Given the description of an element on the screen output the (x, y) to click on. 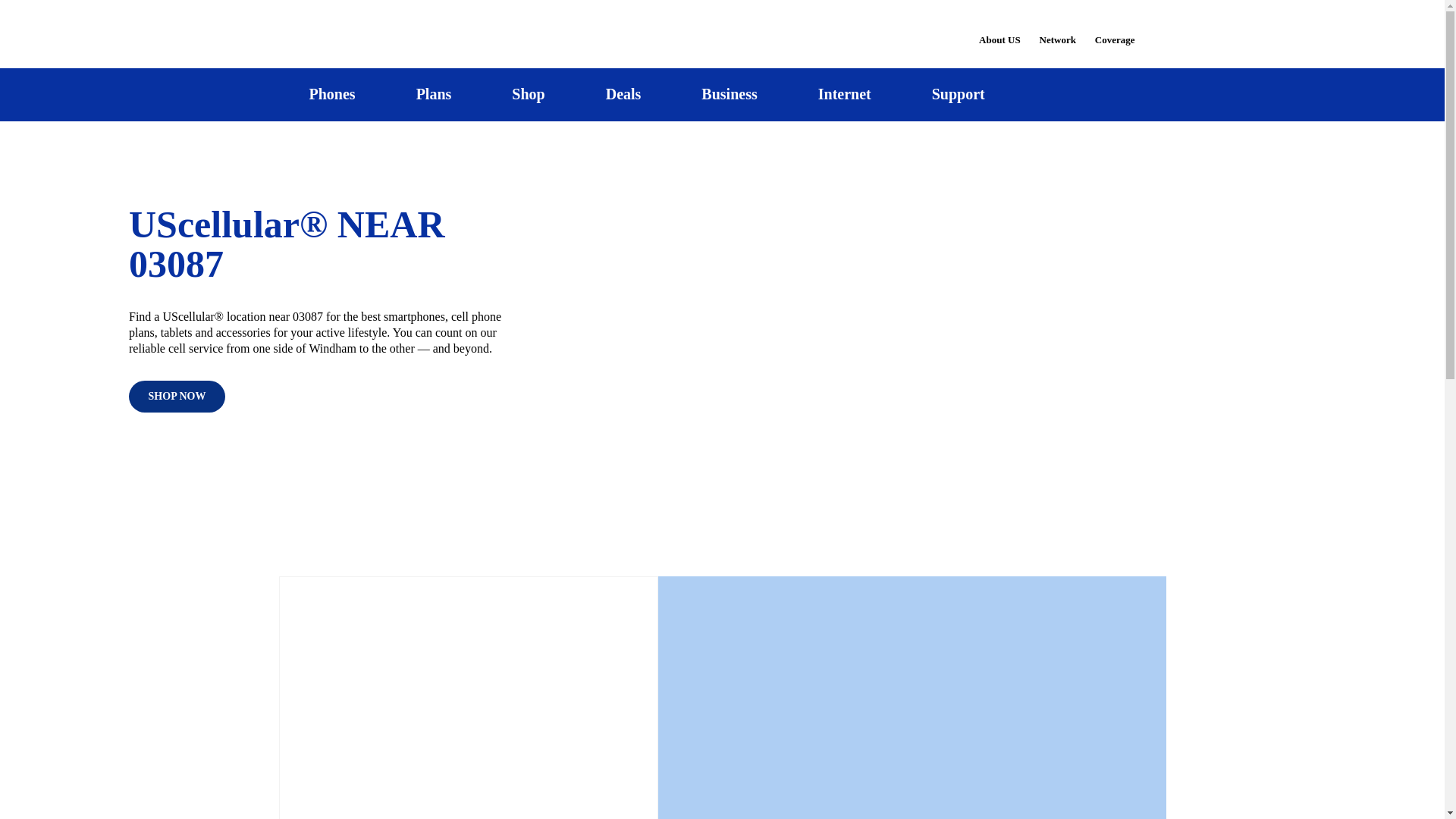
Internet (844, 94)
Shop (528, 94)
About US (999, 30)
Coverage (1115, 29)
Business (729, 94)
Support (957, 94)
Network (1057, 30)
SHOP NOW (177, 396)
Deals (623, 94)
Plans (433, 94)
Phones (332, 94)
